Given the description of an element on the screen output the (x, y) to click on. 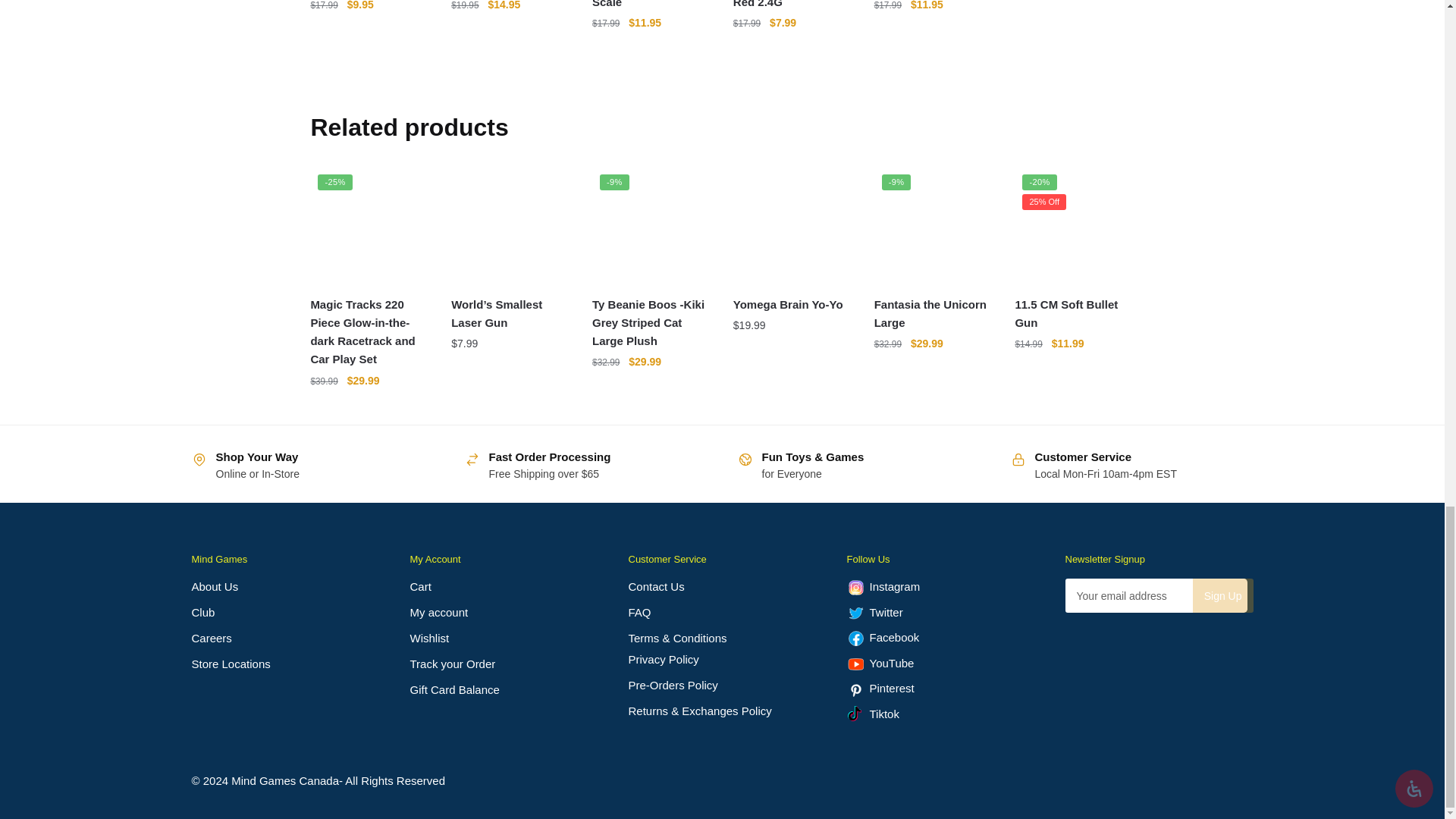
Sign up (1222, 595)
